Given the description of an element on the screen output the (x, y) to click on. 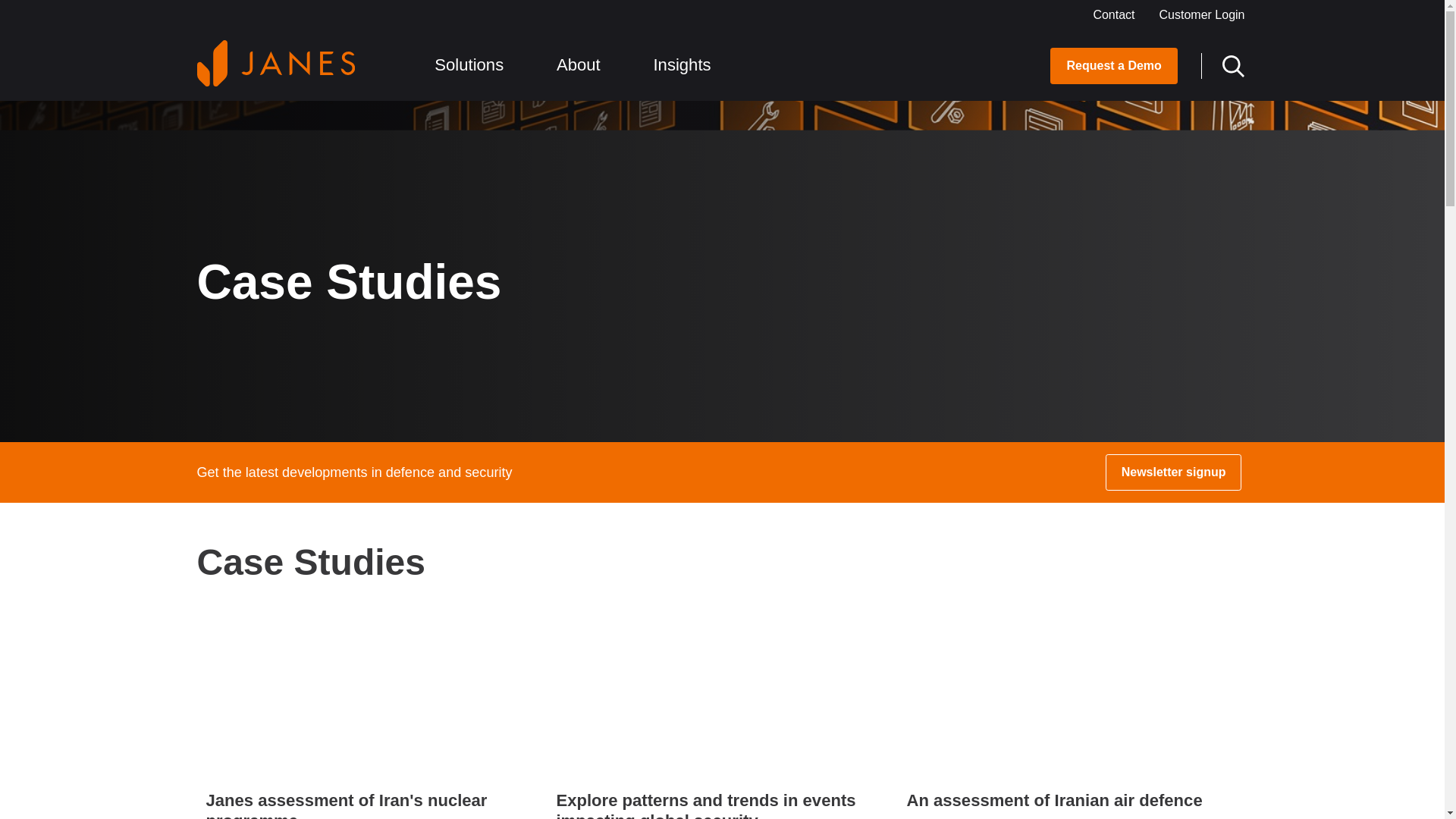
Solutions (475, 72)
Request a Demo (1112, 65)
About (585, 72)
Insights (688, 72)
Contact (1113, 12)
Customer Login (1202, 12)
Janes (275, 63)
